Given the description of an element on the screen output the (x, y) to click on. 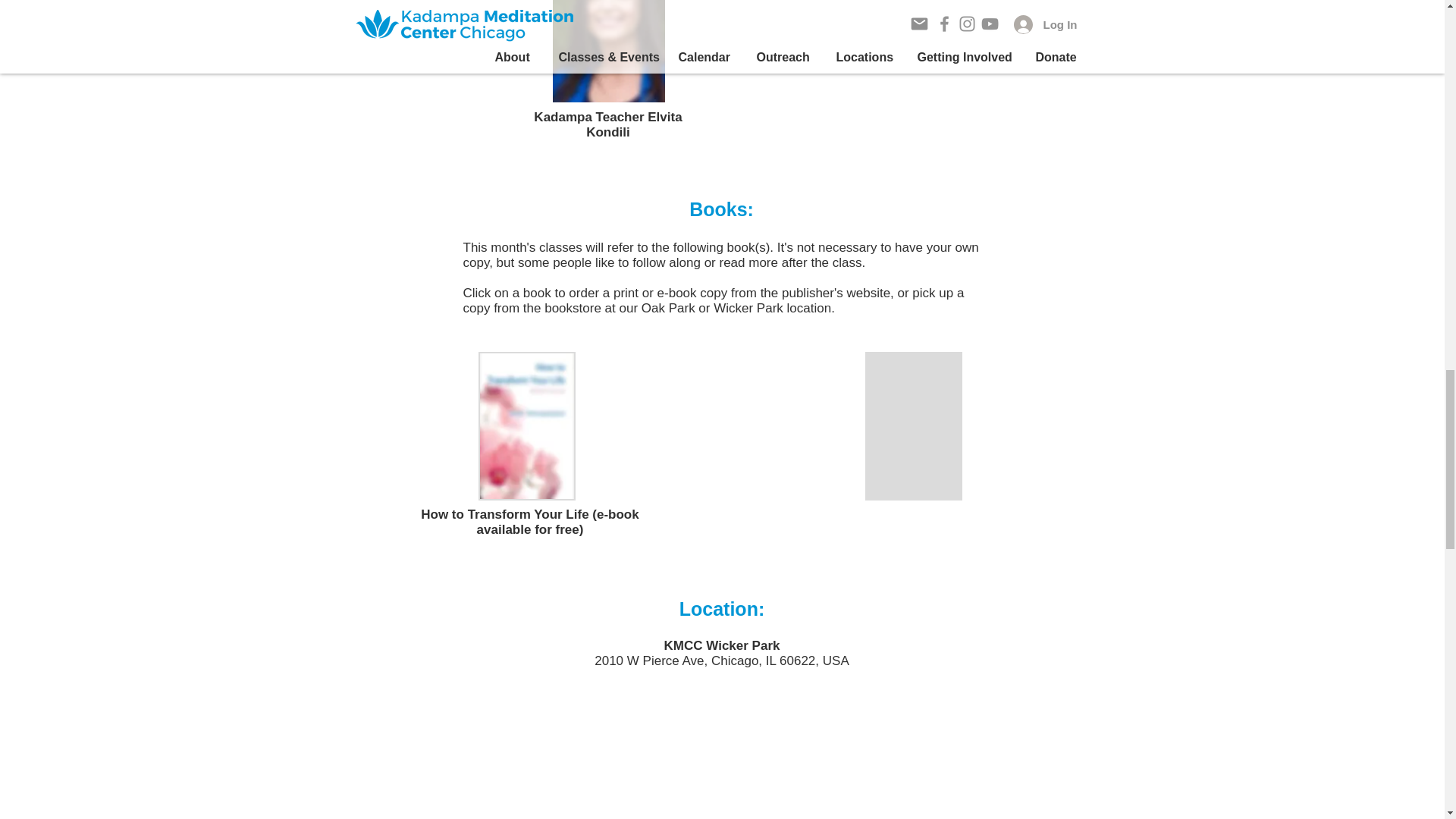
Kadampa Teacher Elvita Kondili (607, 51)
